Given the description of an element on the screen output the (x, y) to click on. 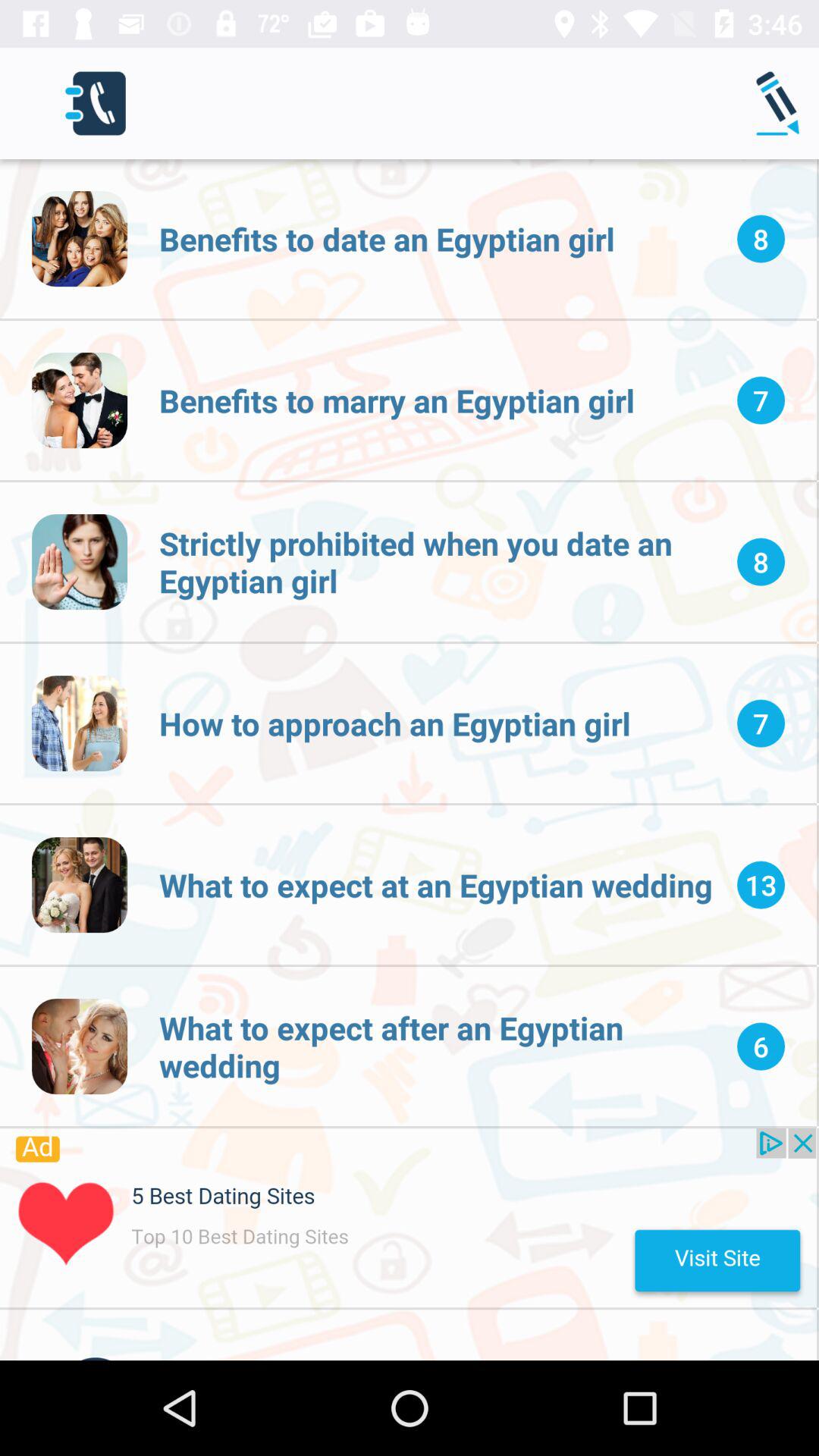
select second image (79, 400)
click the edit button (781, 103)
select the first image of the page (79, 238)
